Given the description of an element on the screen output the (x, y) to click on. 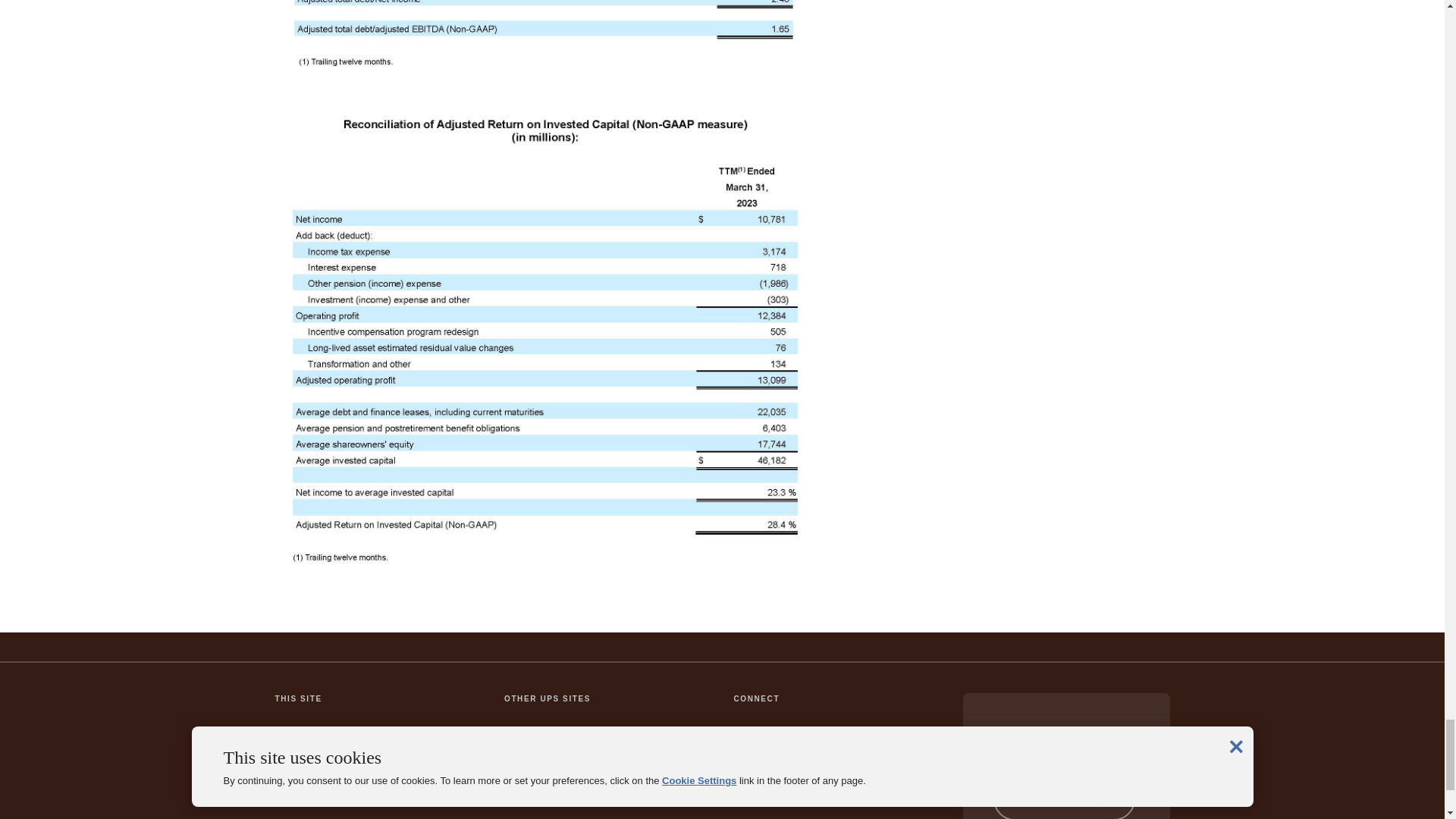
Facebook (748, 759)
Youtube (907, 759)
Linkedin (868, 759)
Instagram (827, 759)
Twitter (788, 759)
